Given the description of an element on the screen output the (x, y) to click on. 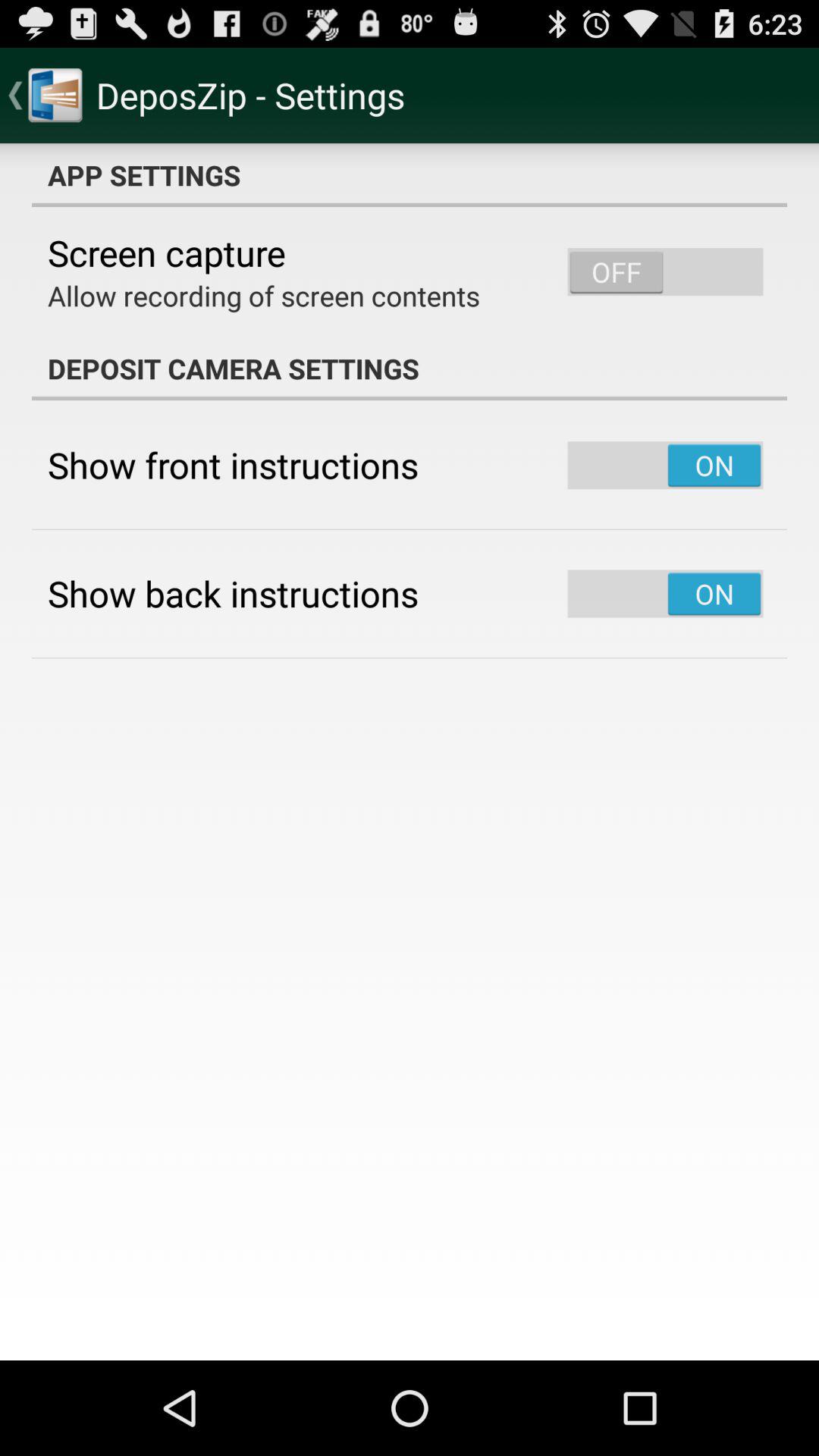
turn on item below the allow recording of (409, 368)
